Given the description of an element on the screen output the (x, y) to click on. 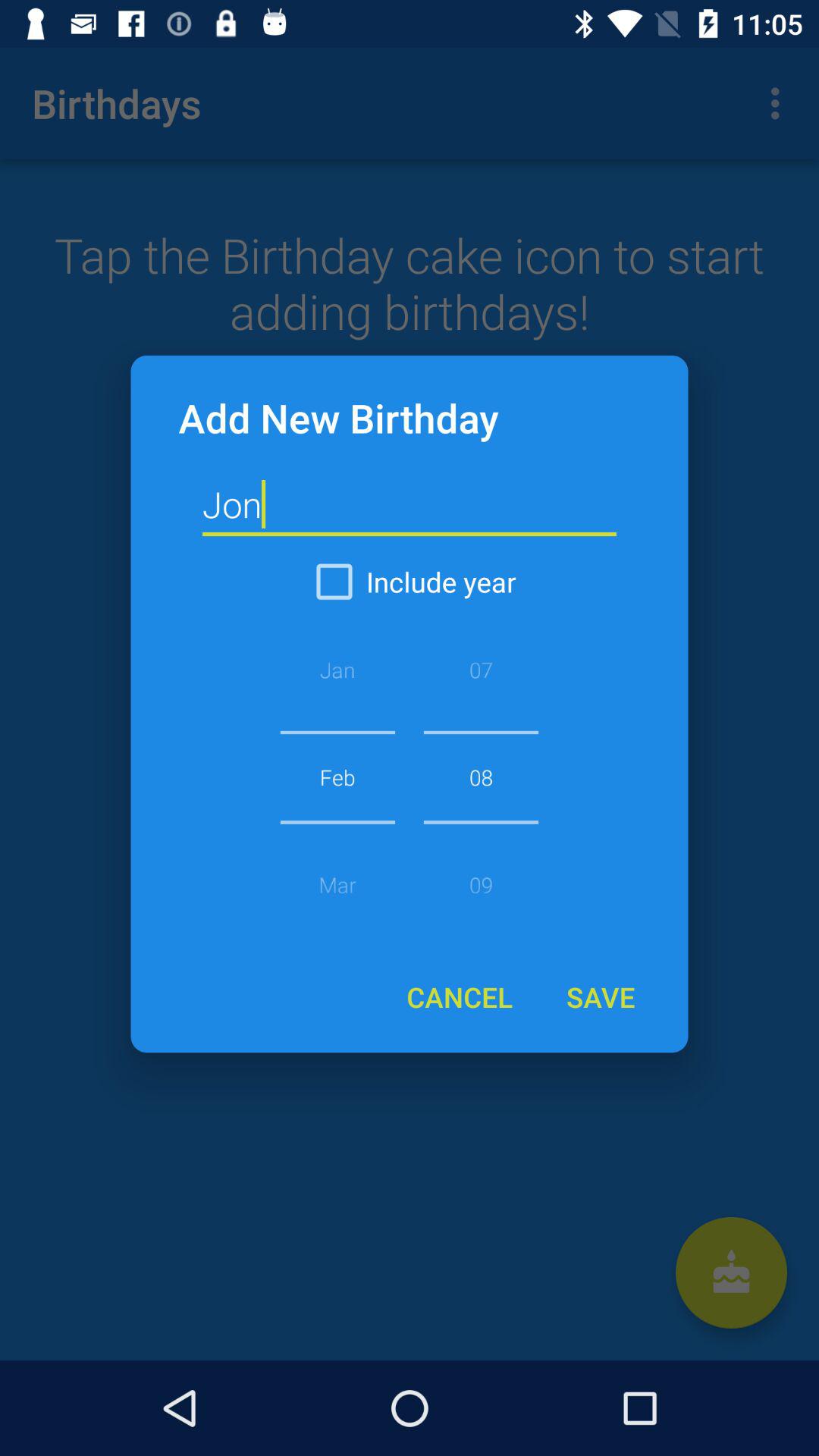
launch the item next to the cancel icon (600, 996)
